Given the description of an element on the screen output the (x, y) to click on. 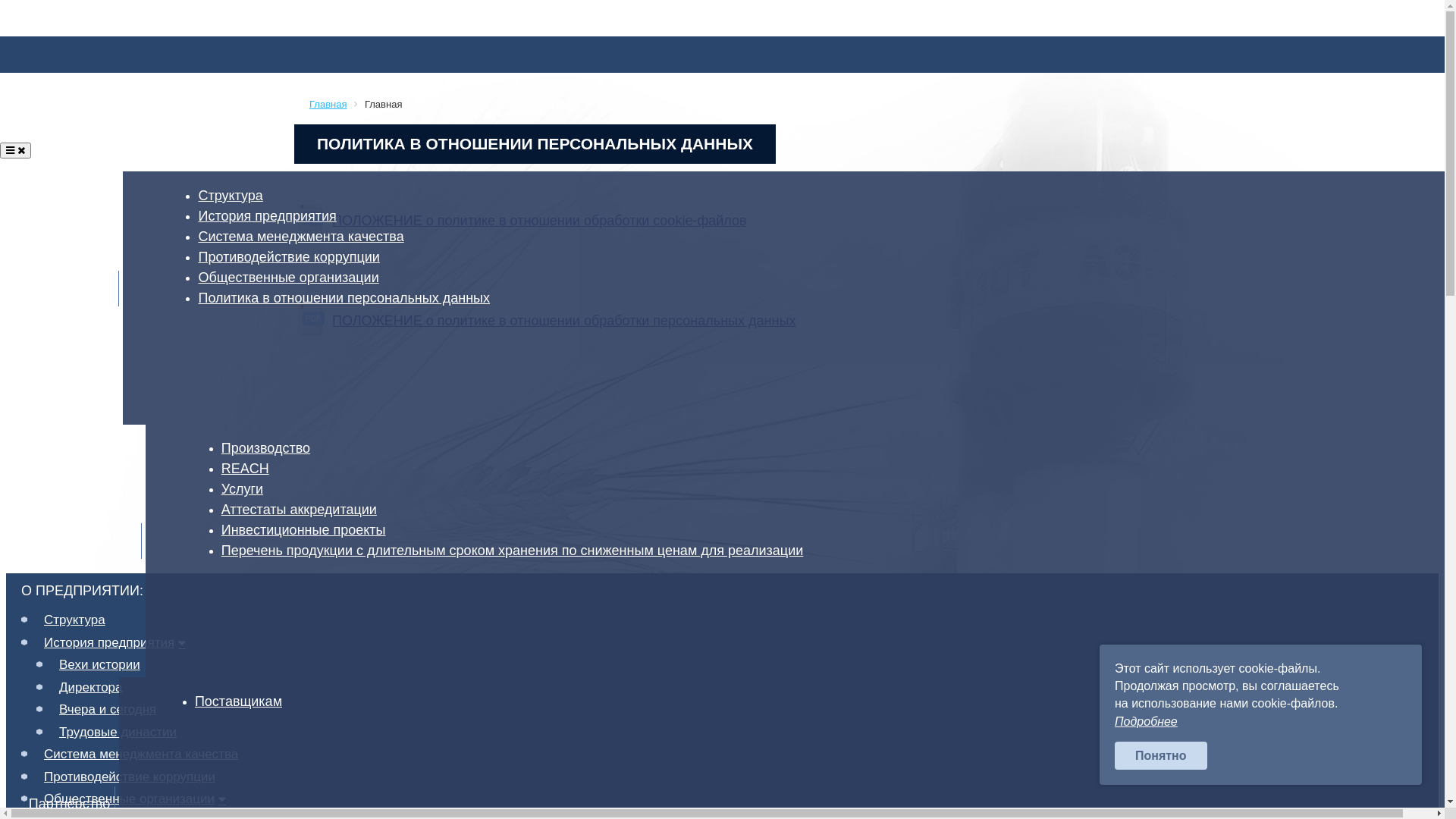
REACH Element type: text (249, 468)
